Given the description of an element on the screen output the (x, y) to click on. 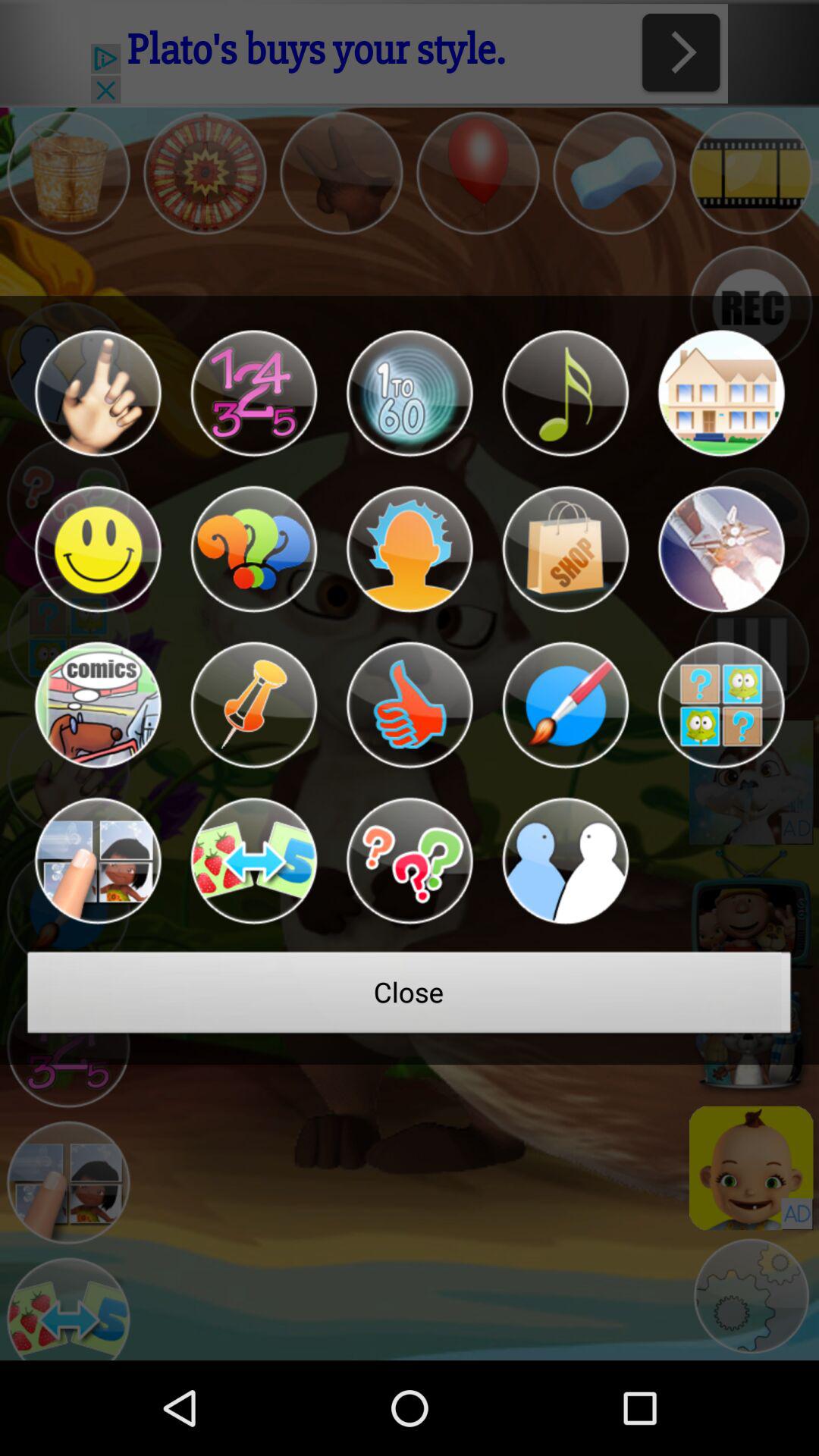
open questions (409, 861)
